Given the description of an element on the screen output the (x, y) to click on. 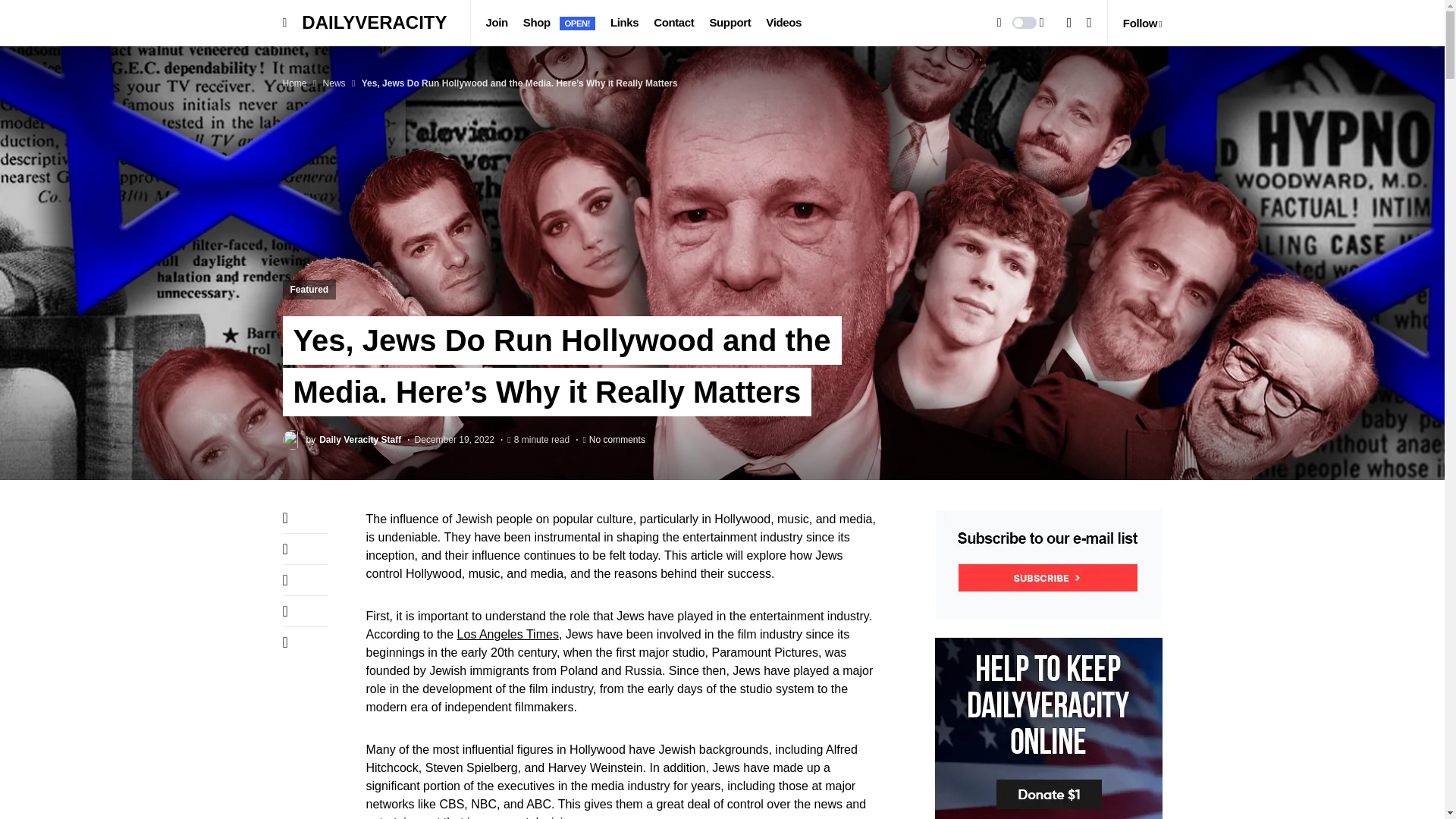
DAILYVERACITY (377, 22)
View all posts by Daily Veracity Staff (341, 438)
Support (730, 22)
Shop OPEN! (558, 22)
